Given the description of an element on the screen output the (x, y) to click on. 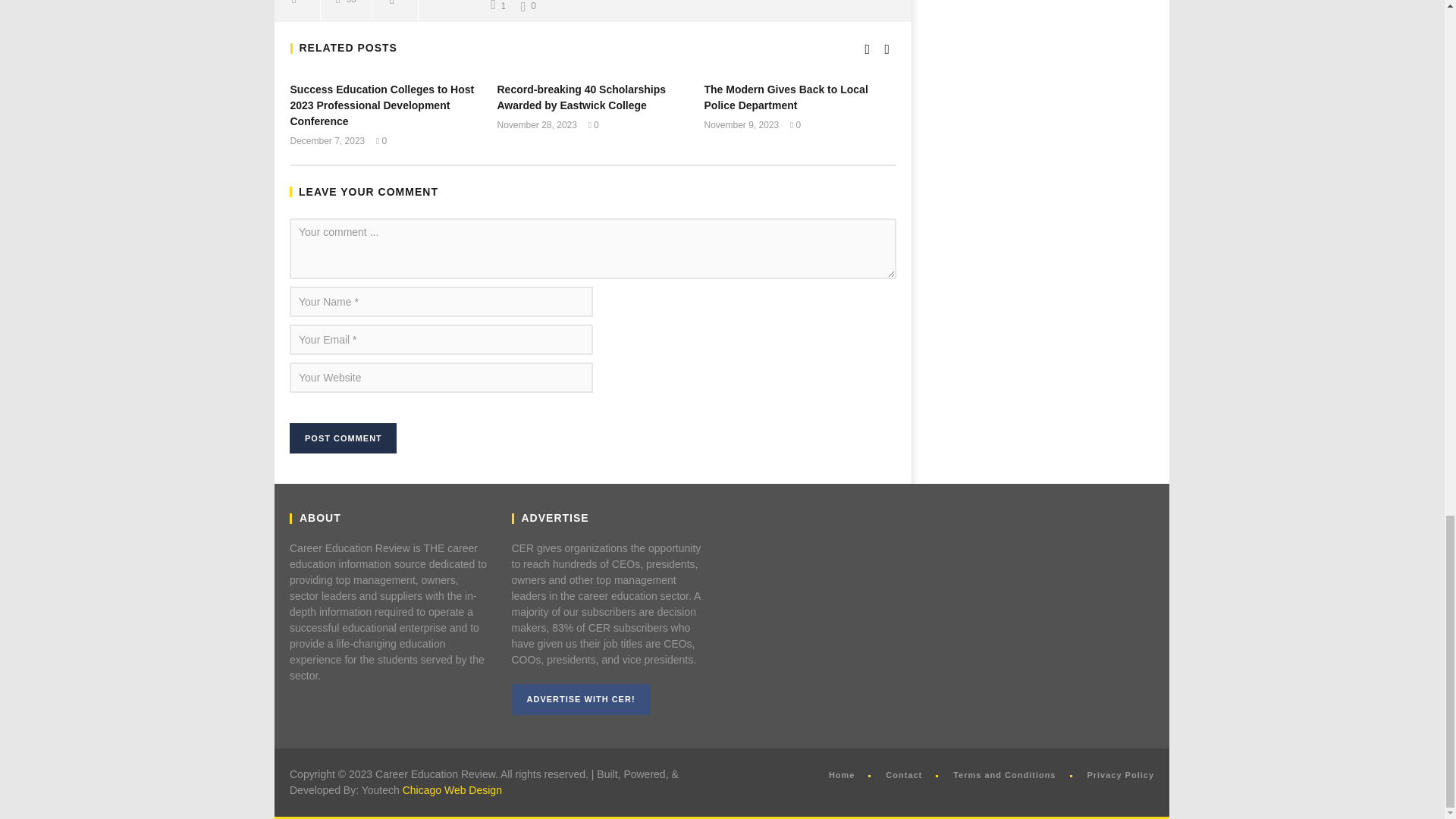
Post Comment (342, 438)
